Given the description of an element on the screen output the (x, y) to click on. 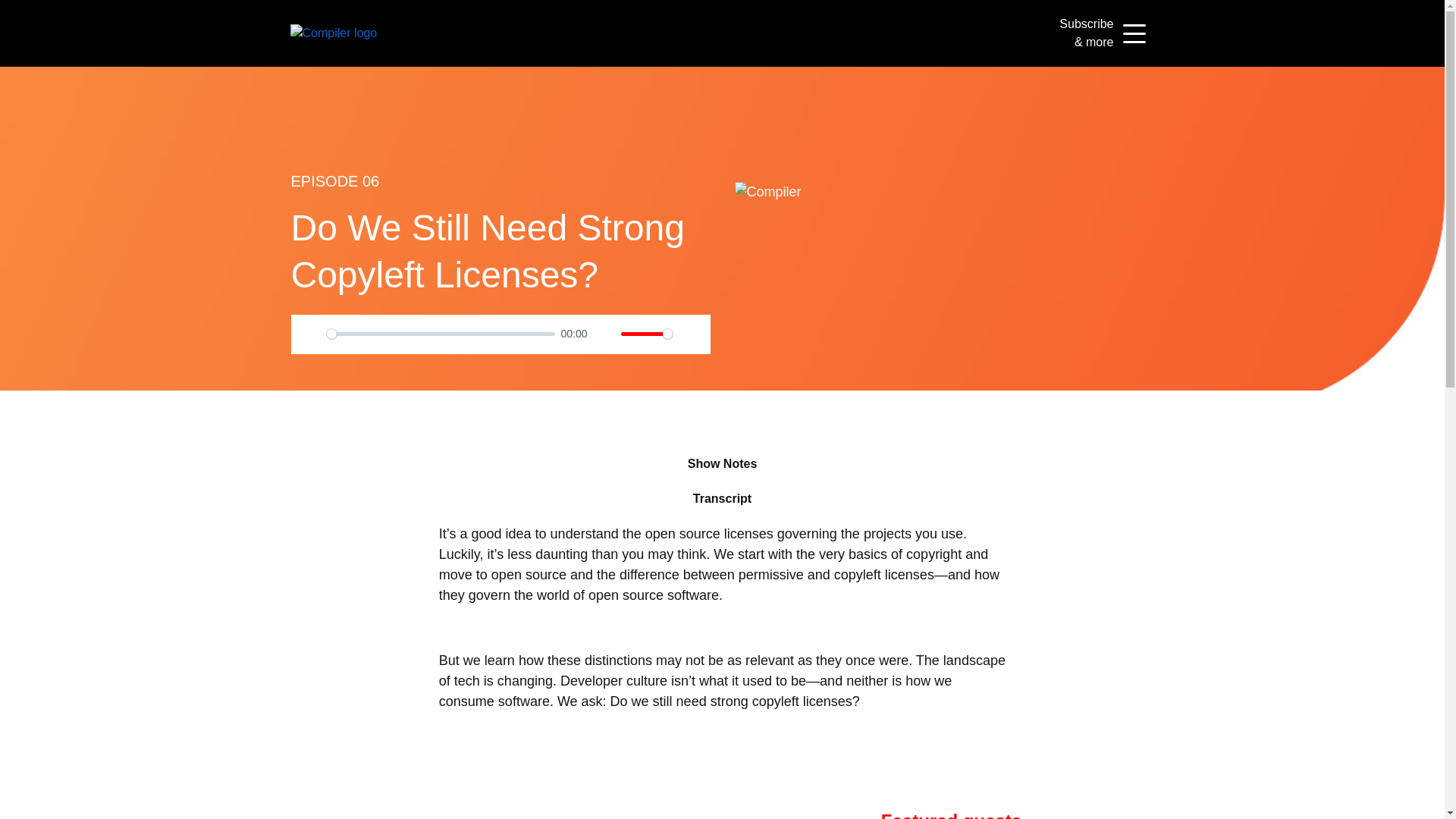
Mute (604, 334)
Compiler (333, 32)
Play (310, 334)
1 (646, 333)
Settings (689, 334)
0 (440, 333)
